Given the description of an element on the screen output the (x, y) to click on. 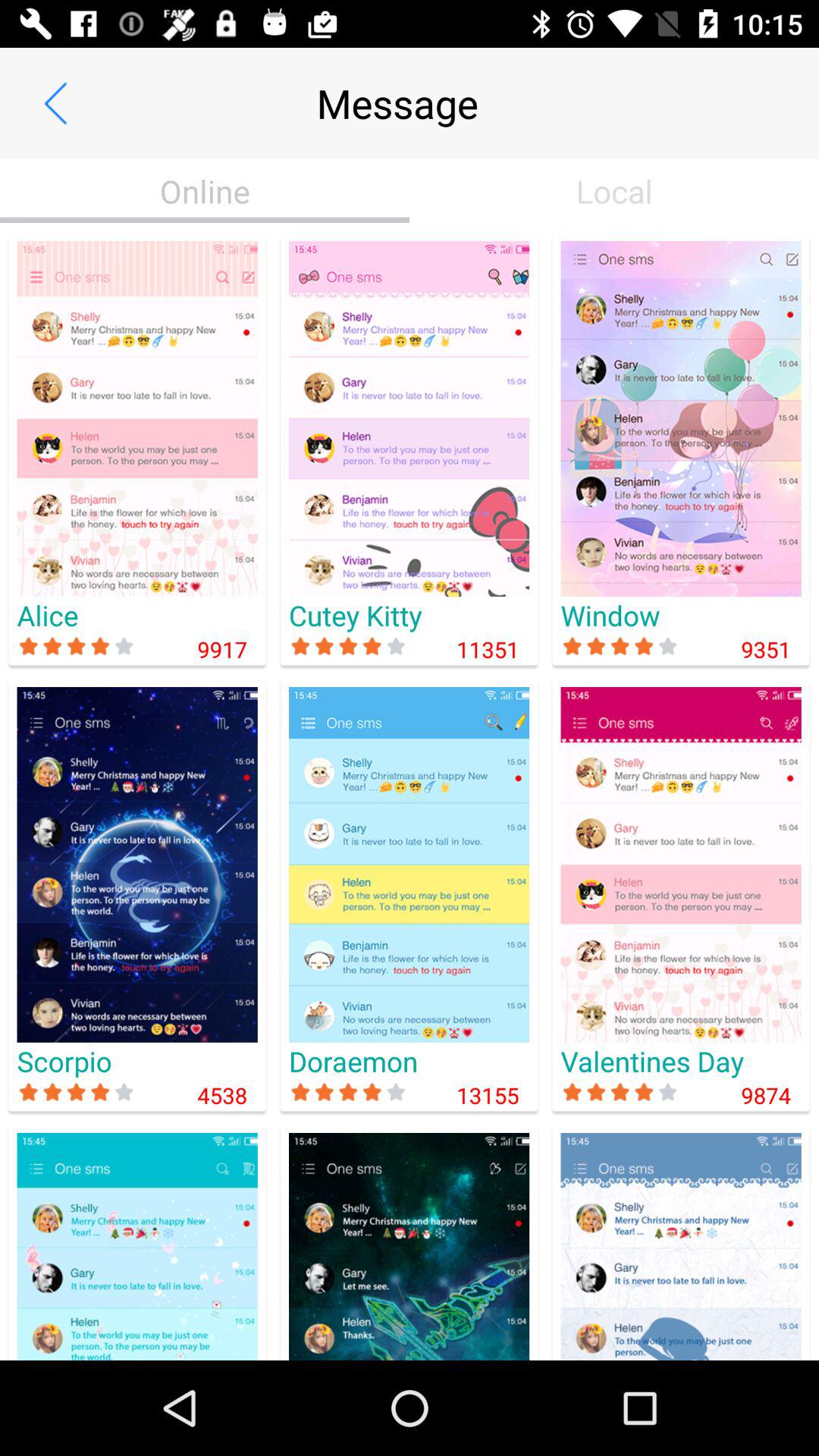
press item next to local icon (204, 190)
